Given the description of an element on the screen output the (x, y) to click on. 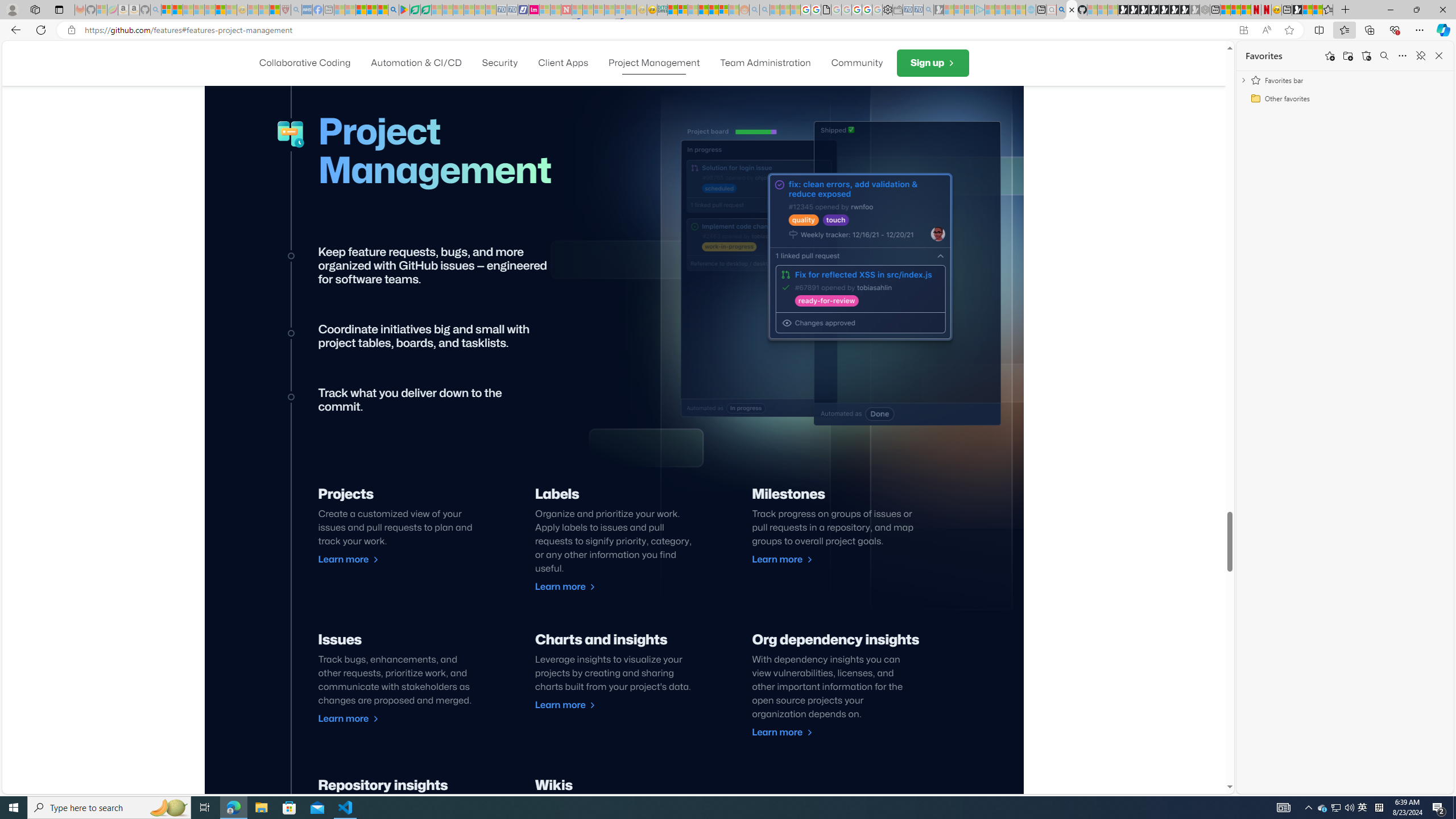
Add this page to favorites (1330, 55)
Tab actions menu (58, 9)
GitHub Project Management Icon (290, 134)
Project Management (654, 62)
Settings and more (Alt+F) (1419, 29)
Search favorites (1383, 55)
Add this page to favorites (Ctrl+D) (1289, 29)
